Given the description of an element on the screen output the (x, y) to click on. 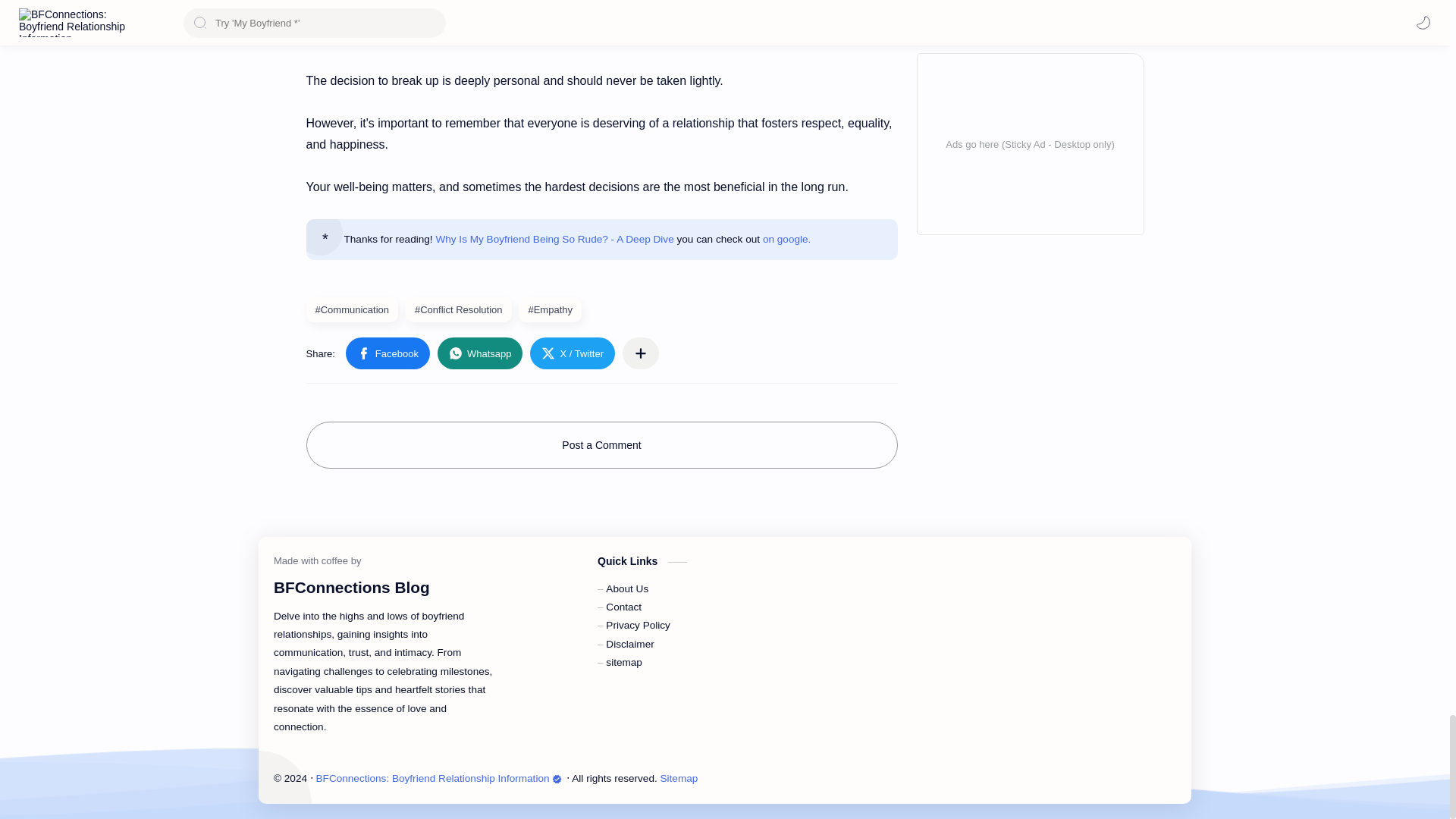
on google. (786, 238)
Why Is My Boyfriend Being So Rude? - A Deep Dive (553, 238)
